Given the description of an element on the screen output the (x, y) to click on. 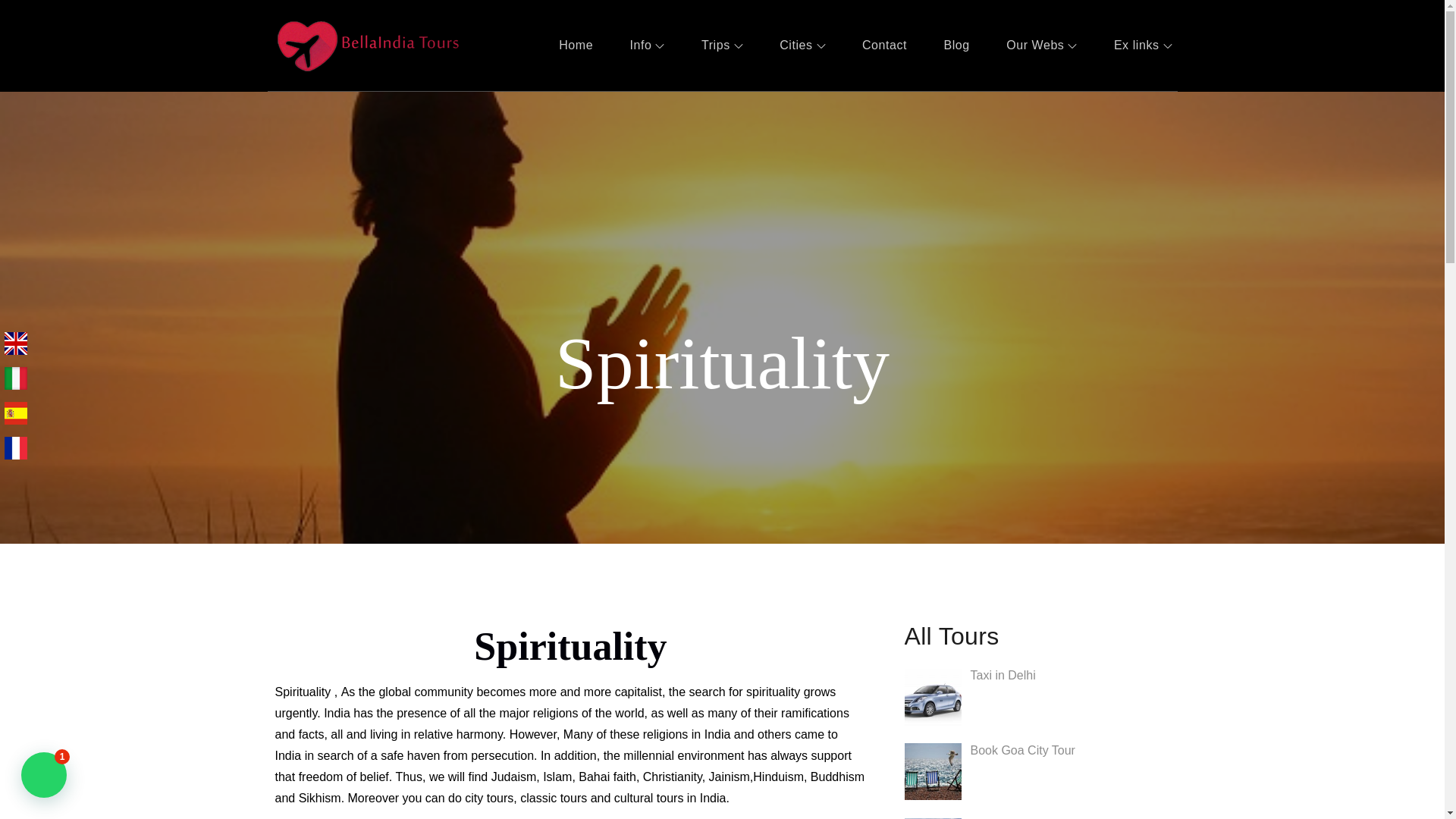
France (15, 446)
UK (15, 341)
Bella India Tours (563, 60)
Italy (15, 377)
Spain (15, 411)
